Given the description of an element on the screen output the (x, y) to click on. 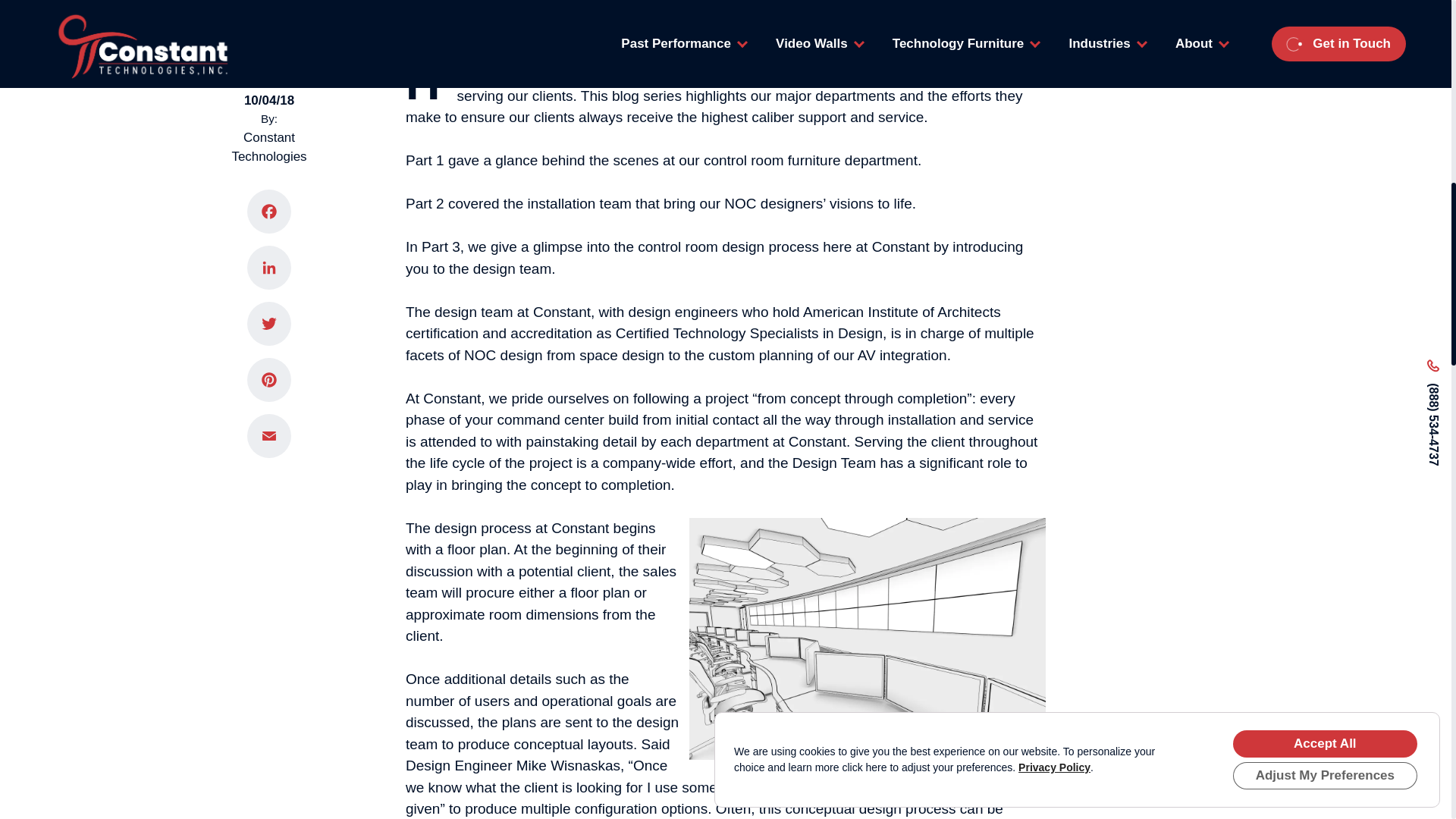
Pinterest (269, 352)
Email (269, 408)
Twitter (269, 296)
Facebook (269, 184)
LinkedIn (269, 240)
